Given the description of an element on the screen output the (x, y) to click on. 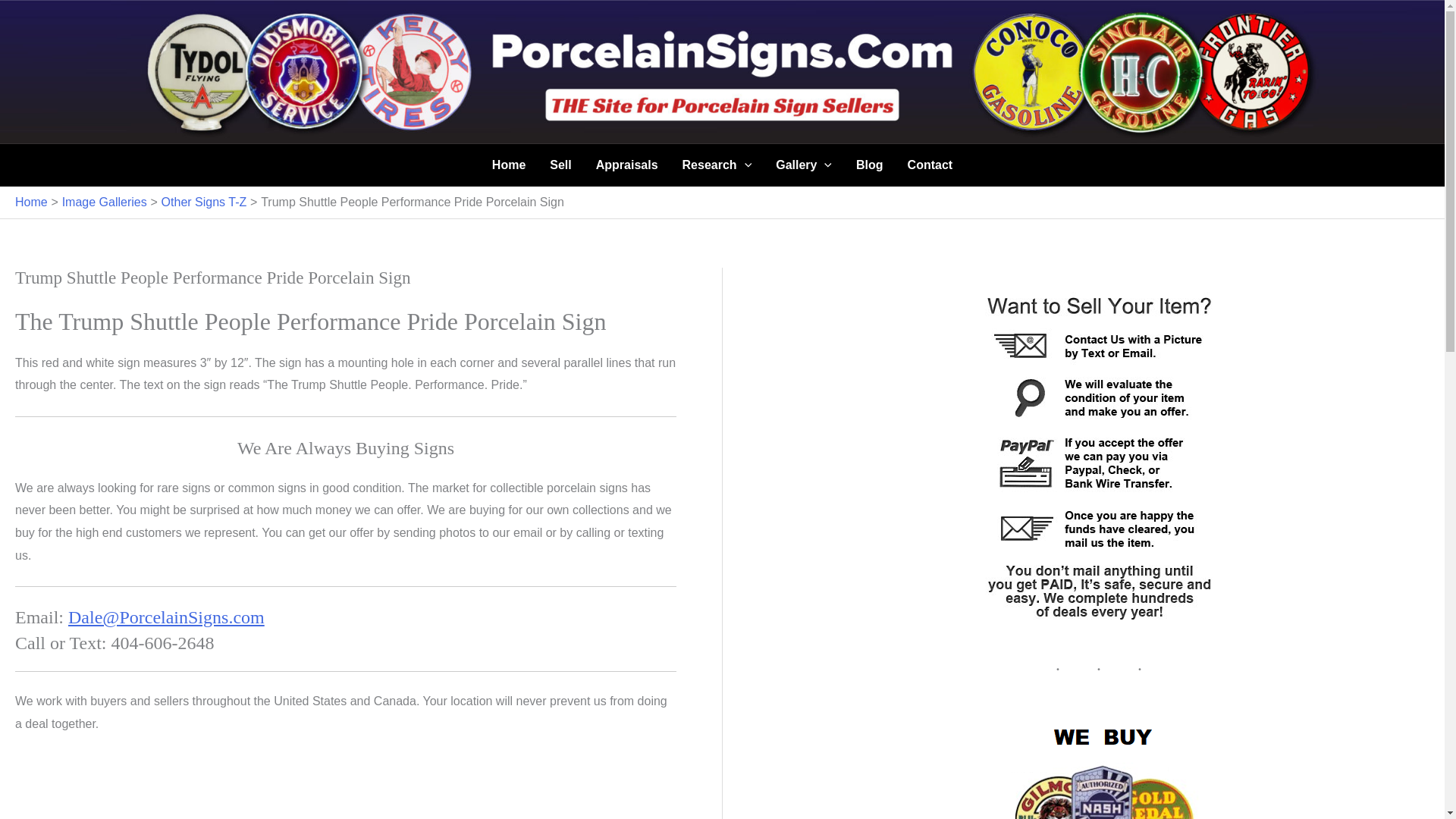
Blog (869, 165)
Contact (930, 165)
Appraisals (626, 165)
Home (508, 165)
Gallery (803, 165)
Research (716, 165)
Sell (560, 165)
